Given the description of an element on the screen output the (x, y) to click on. 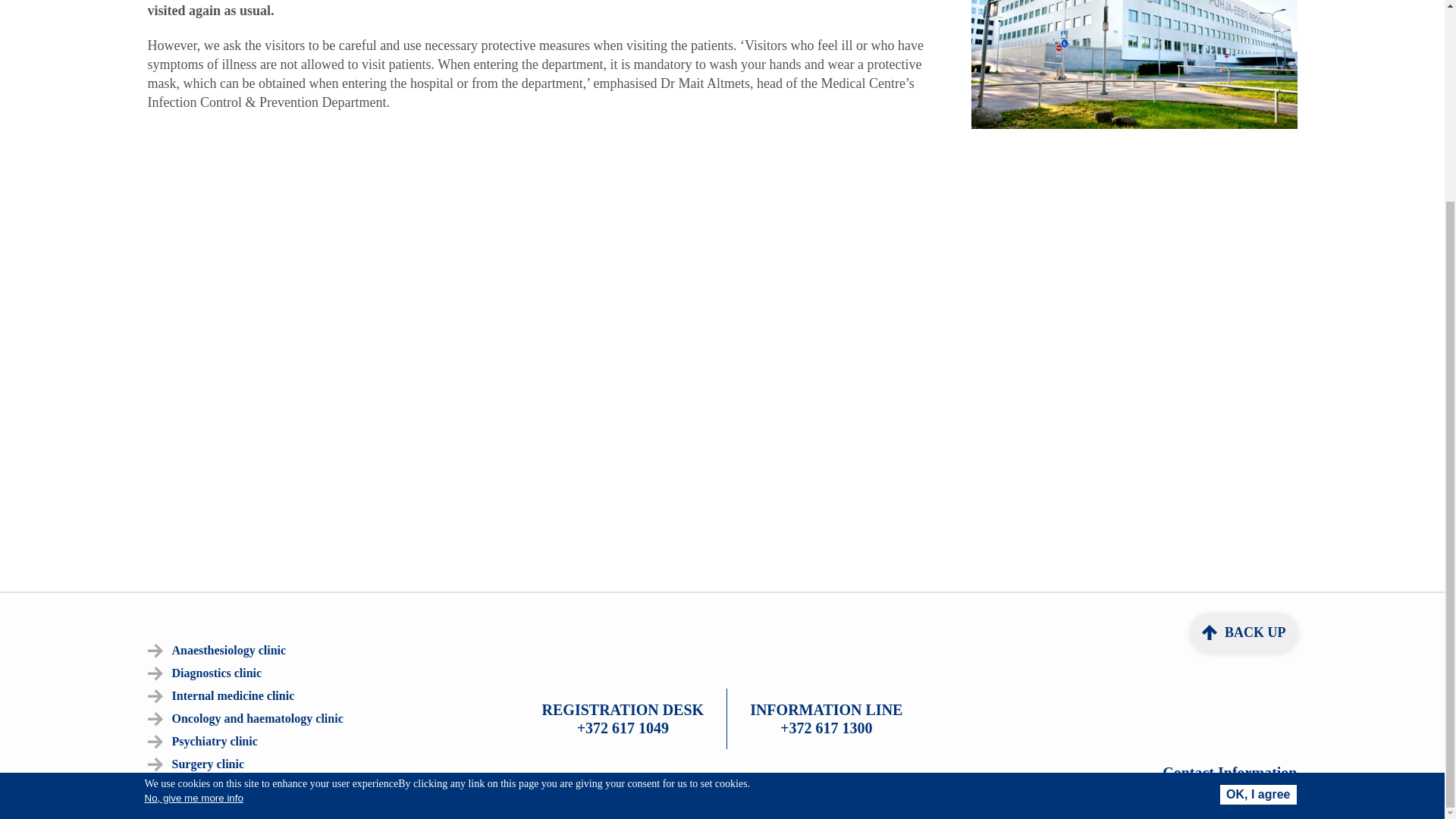
Regionaalhaigla (1134, 64)
As of 2 December, it is allowed to visit patients again (1134, 124)
